Given the description of an element on the screen output the (x, y) to click on. 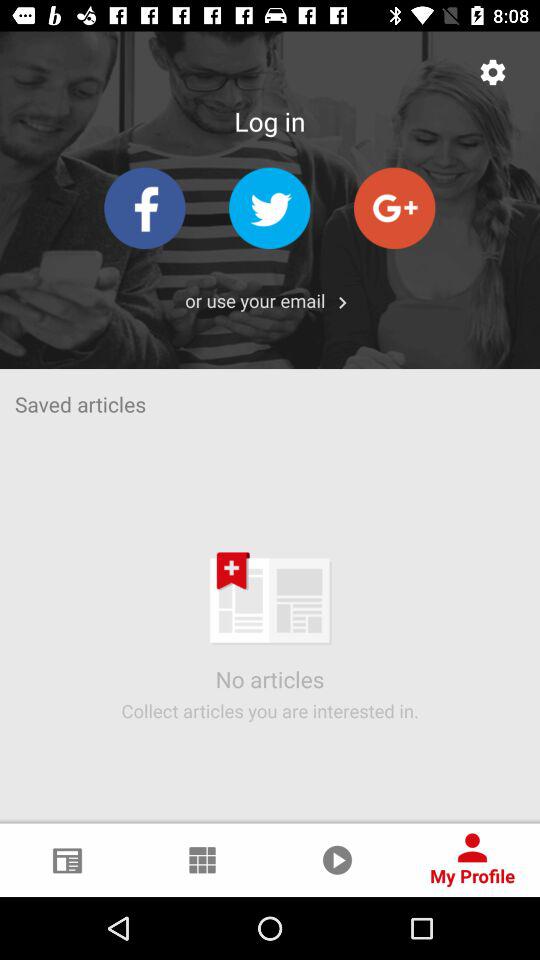
turn off item above saved articles app (342, 302)
